Given the description of an element on the screen output the (x, y) to click on. 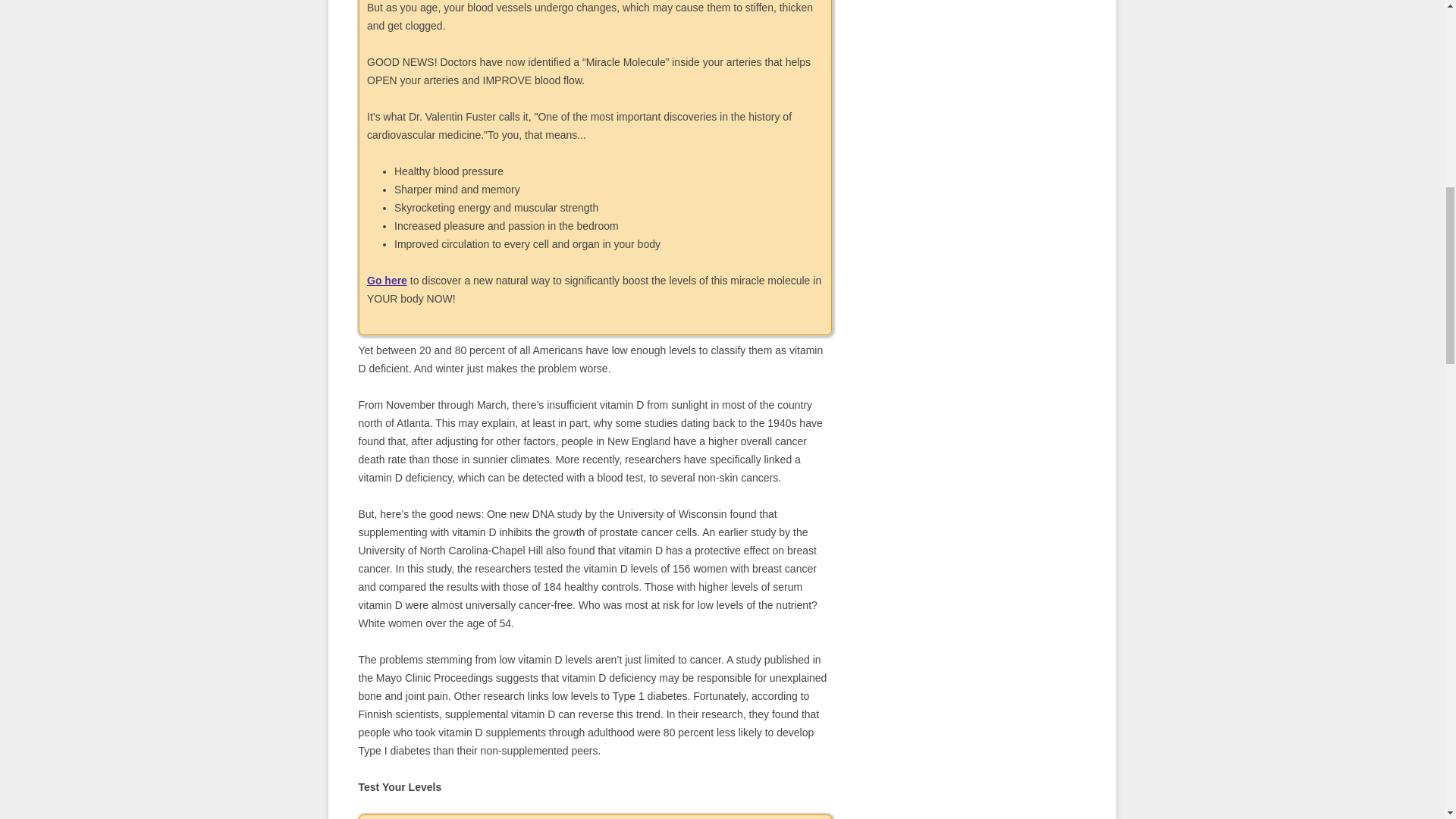
Go here (386, 280)
